Given the description of an element on the screen output the (x, y) to click on. 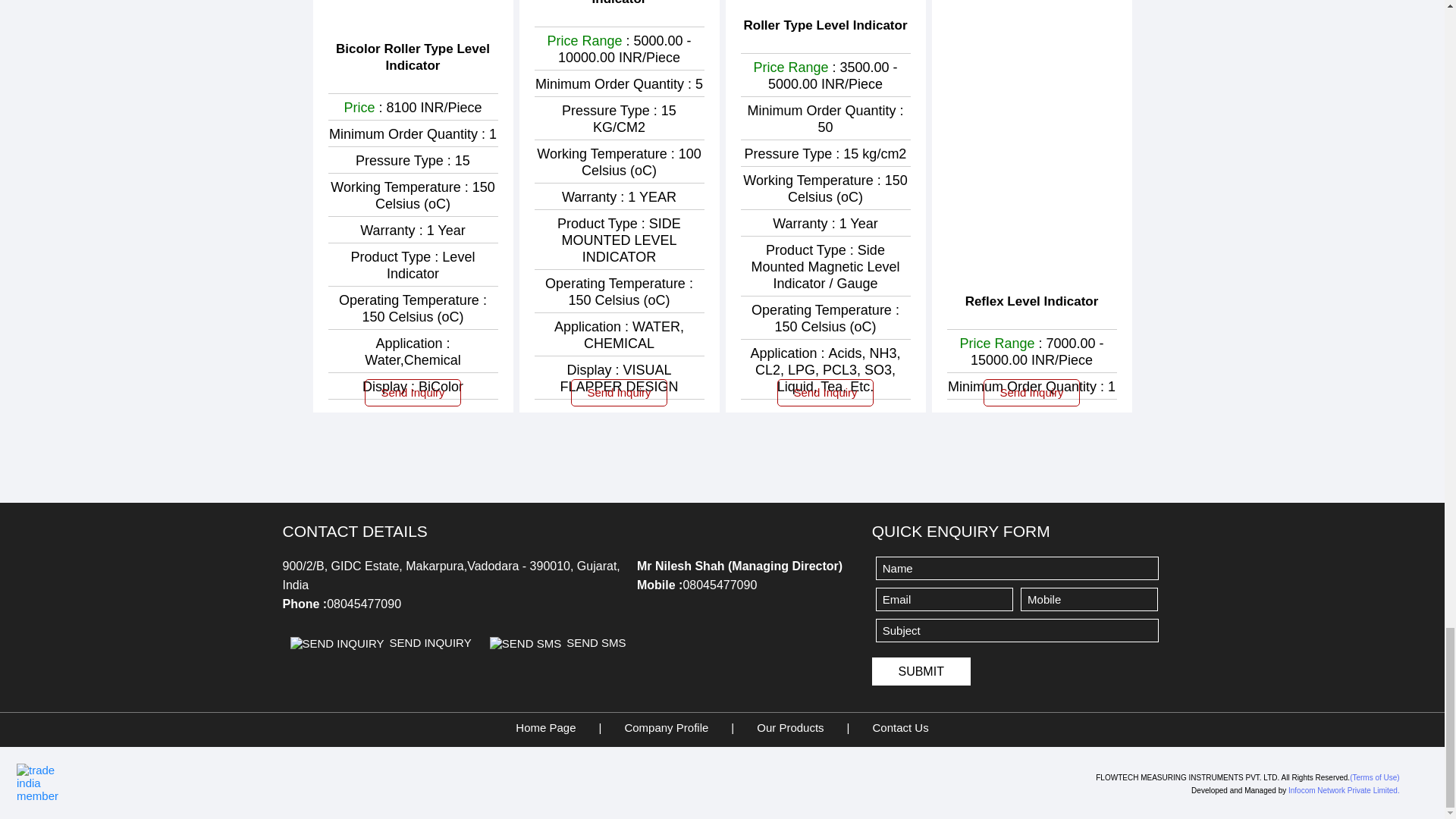
Send Inquiry (336, 643)
Email (944, 599)
Mobile (1088, 599)
Send SMS (524, 643)
Submit (921, 671)
Name (1017, 567)
Subject (1017, 630)
